Given the description of an element on the screen output the (x, y) to click on. 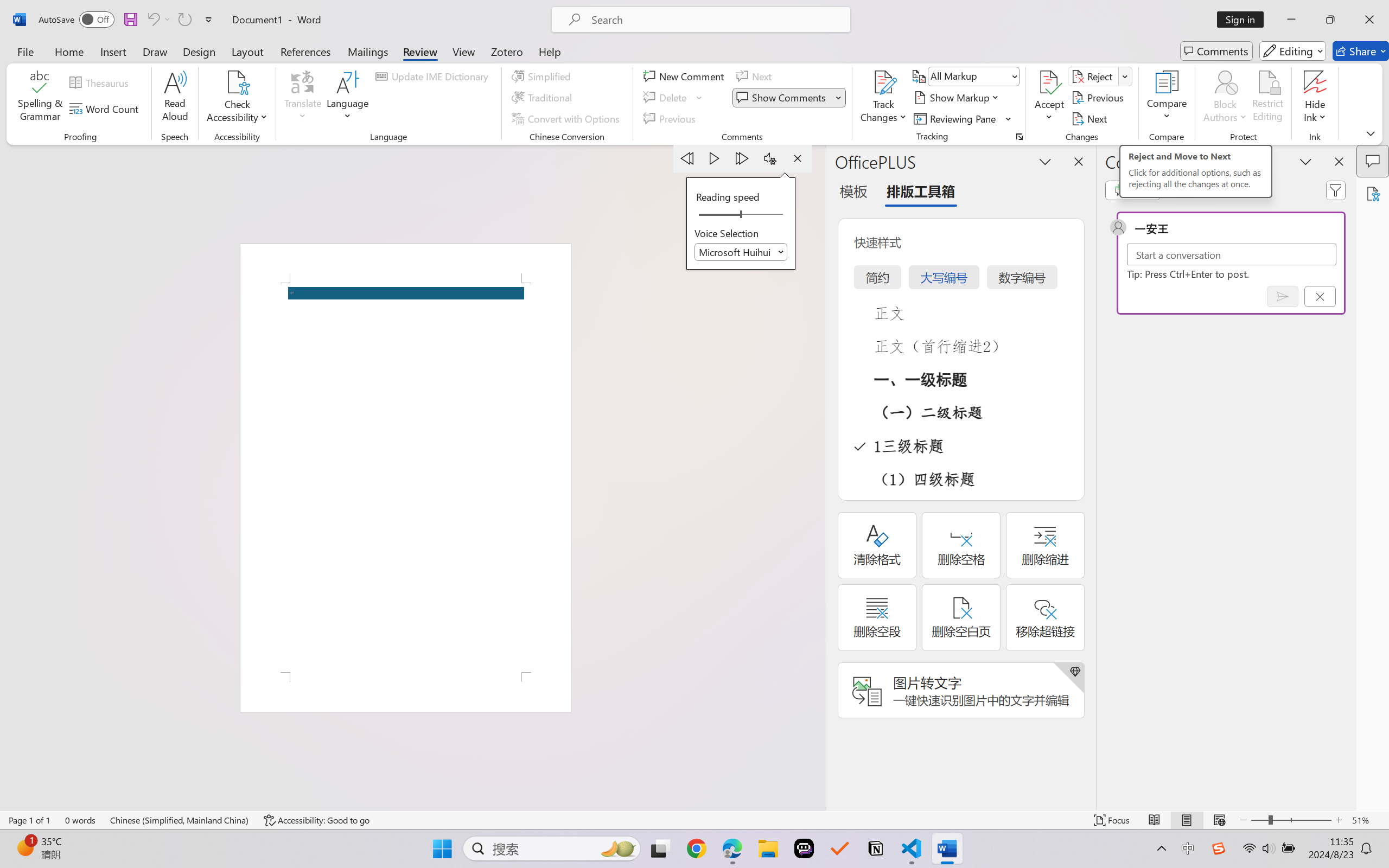
Reading speed (740, 214)
Block Authors (1224, 97)
Repeat Accessibility Checker (184, 19)
Delete (673, 97)
Accessibility Assistant (1373, 193)
Page right (765, 214)
